Given the description of an element on the screen output the (x, y) to click on. 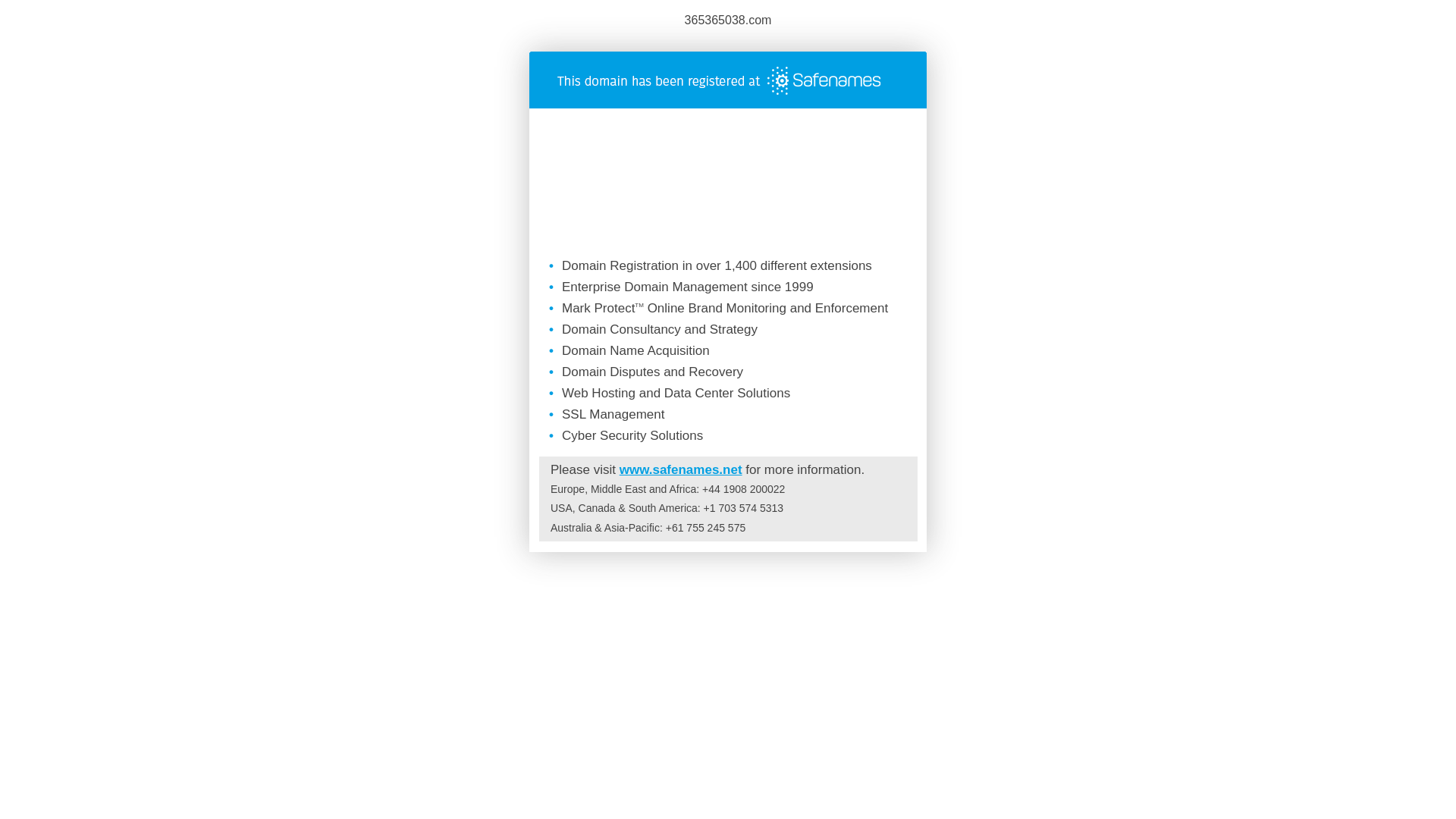
www.safenames.net Element type: text (680, 469)
